Given the description of an element on the screen output the (x, y) to click on. 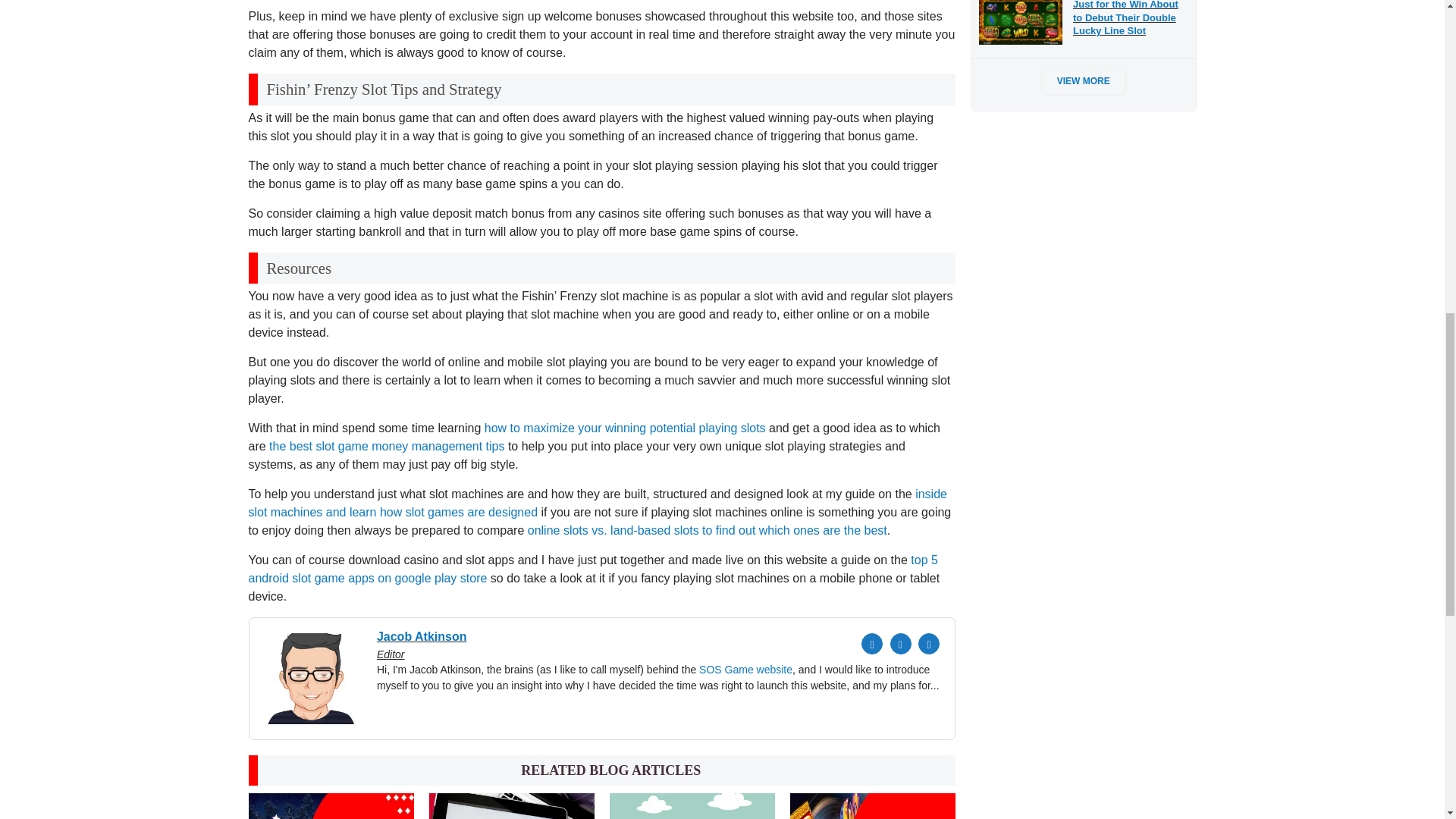
top 5 android slot game apps on google play store (592, 568)
News Thumbnail (872, 806)
News Thumbnail (692, 806)
Jacob Atkinson (514, 644)
the best slot game money management tips (386, 445)
how to maximize your winning potential playing slots (624, 427)
SOS Game website (745, 669)
News Thumbnail (330, 806)
inside slot machines and learn how slot games are designed (597, 502)
News Thumbnail (511, 806)
